Given the description of an element on the screen output the (x, y) to click on. 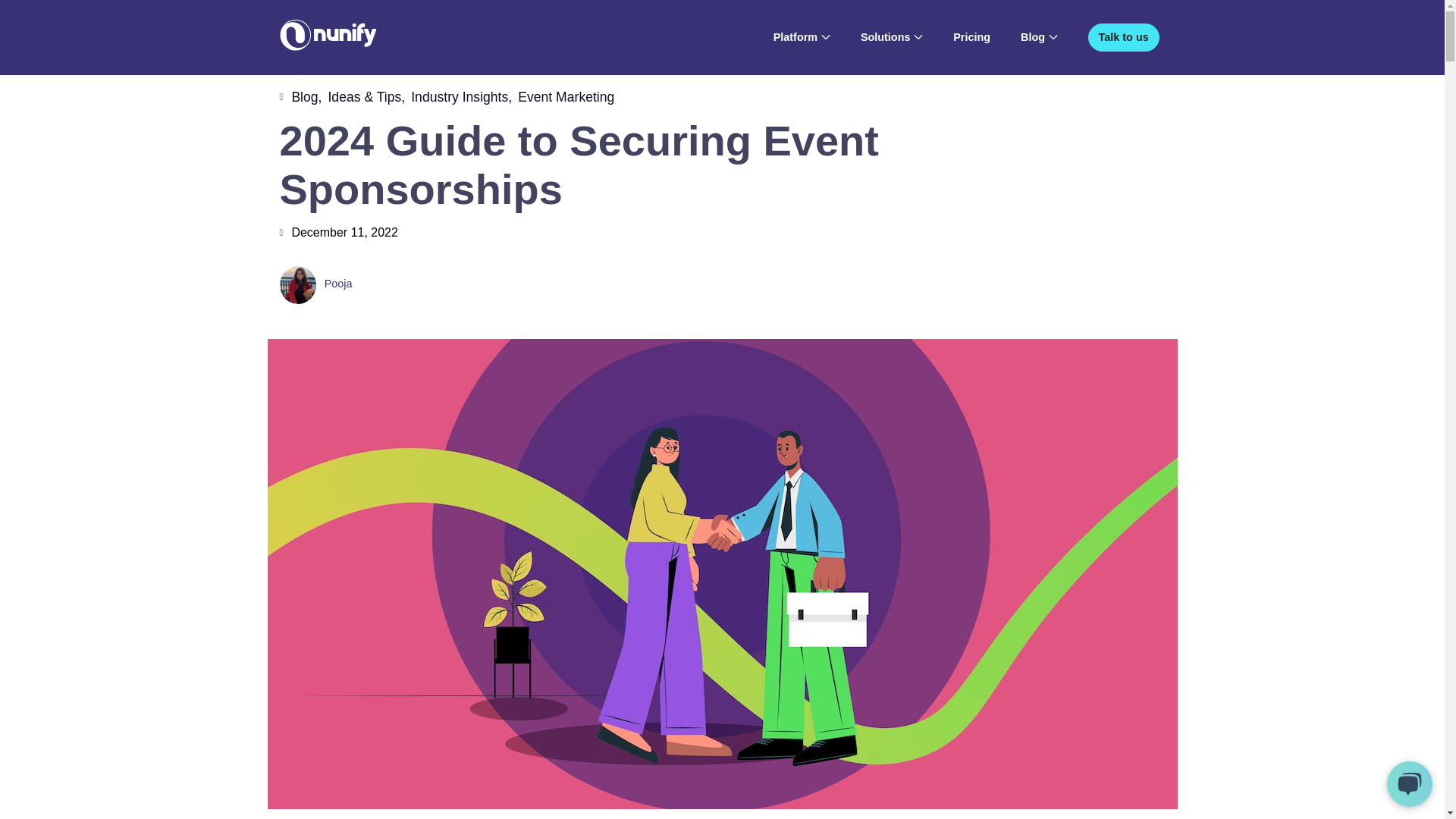
Platform (794, 37)
Talk to us (1122, 36)
Industry Insights, (461, 97)
Blog, (306, 97)
Pricing (971, 37)
Solutions (885, 37)
Blog (1032, 37)
Event Marketing (566, 97)
